Given the description of an element on the screen output the (x, y) to click on. 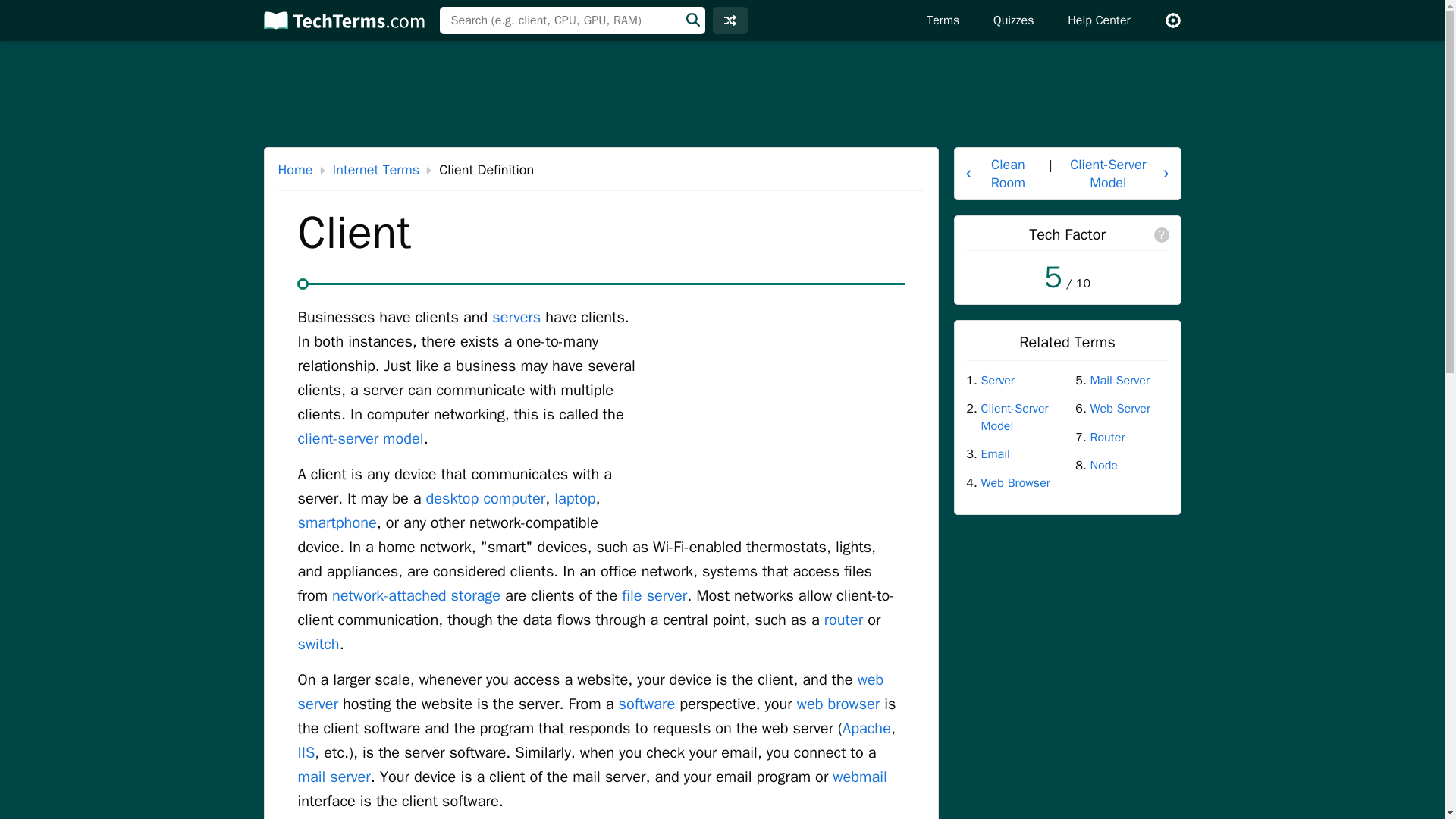
Random (730, 20)
web browser (837, 703)
3rd party ad content (721, 94)
network-attached storage (415, 595)
file server (654, 595)
switch (318, 643)
client-server model (360, 438)
IIS (305, 752)
Help Center (1098, 20)
smartphone (336, 522)
